Given the description of an element on the screen output the (x, y) to click on. 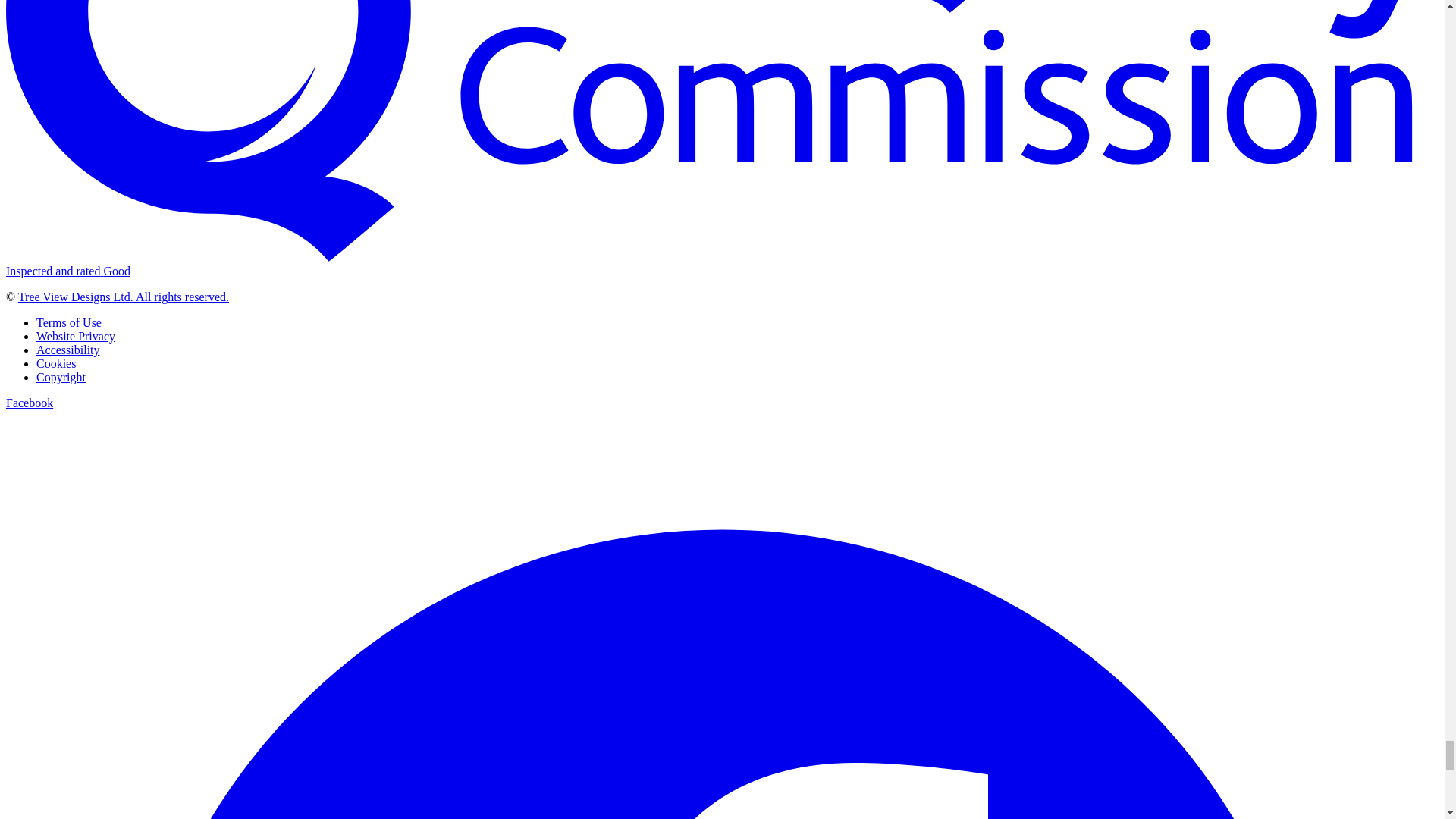
Tree View Designs Ltd. All rights reserved. (122, 296)
Terms of Use (68, 322)
